Given the description of an element on the screen output the (x, y) to click on. 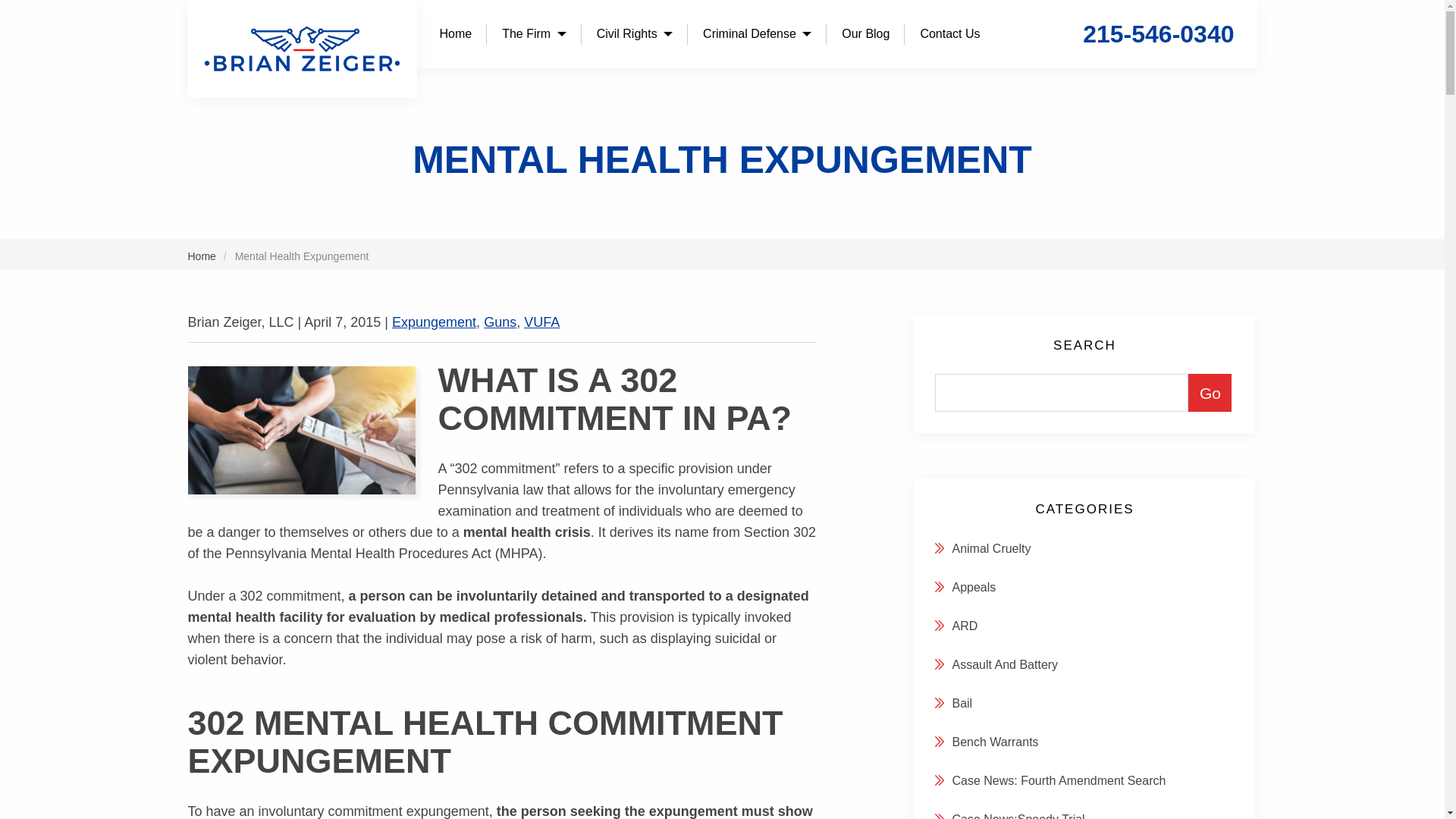
The Firm (534, 34)
Go (1209, 392)
Home (455, 34)
Civil Rights (634, 34)
The Firm (534, 34)
Criminal Defense (756, 34)
Civil Rights (634, 34)
Home (455, 34)
